Given the description of an element on the screen output the (x, y) to click on. 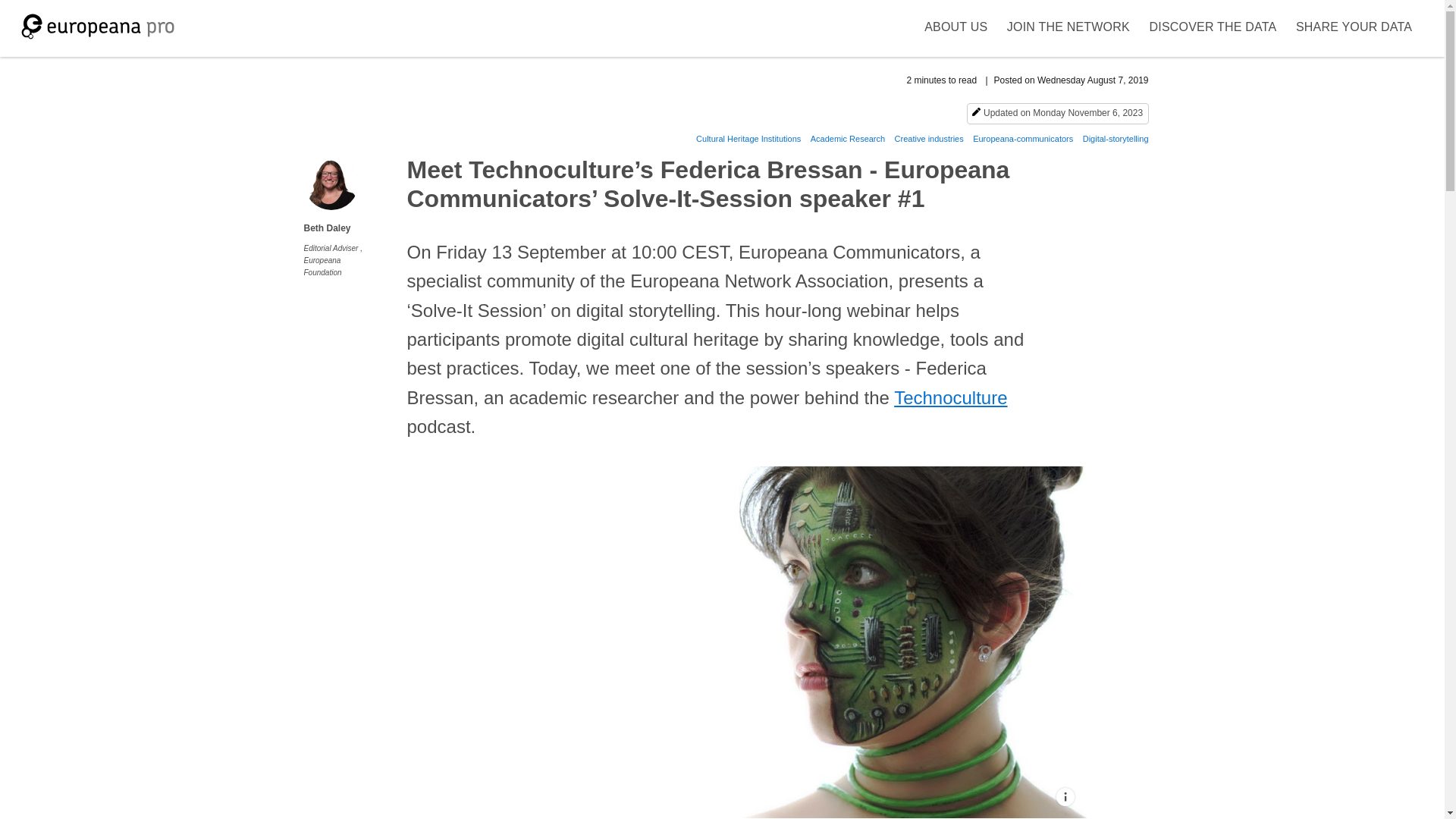
About us (955, 28)
SHARE YOUR DATA (1353, 28)
Technoculture (950, 397)
JOIN THE NETWORK (1068, 28)
Cultural Heritage Institutions (747, 138)
DISCOVER THE DATA (1212, 28)
Creative industries (929, 138)
Discover the data (1212, 28)
Digital-storytelling (1115, 138)
Share your data (1353, 28)
